Given the description of an element on the screen output the (x, y) to click on. 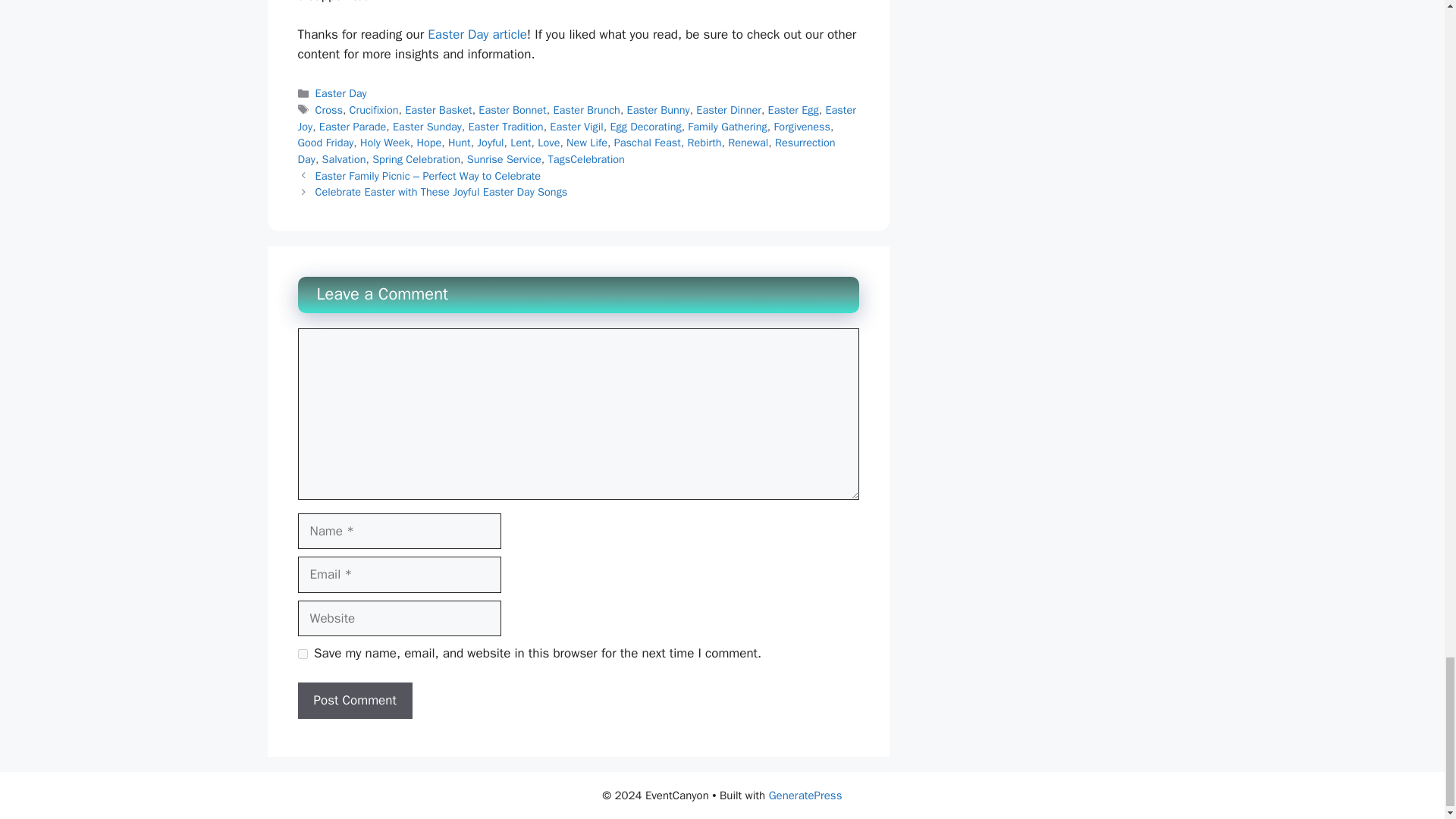
Easter Bonnet (512, 110)
Easter Dinner (728, 110)
Easter Basket (437, 110)
Egg Decorating (645, 126)
Easter Bunny (658, 110)
Easter Joy (576, 118)
Family Gathering (727, 126)
Easter Tradition (505, 126)
Crucifixion (373, 110)
Easter Day (340, 92)
Hope (428, 142)
Easter Egg (793, 110)
Cross (328, 110)
Forgiveness (801, 126)
Easter Brunch (586, 110)
